Given the description of an element on the screen output the (x, y) to click on. 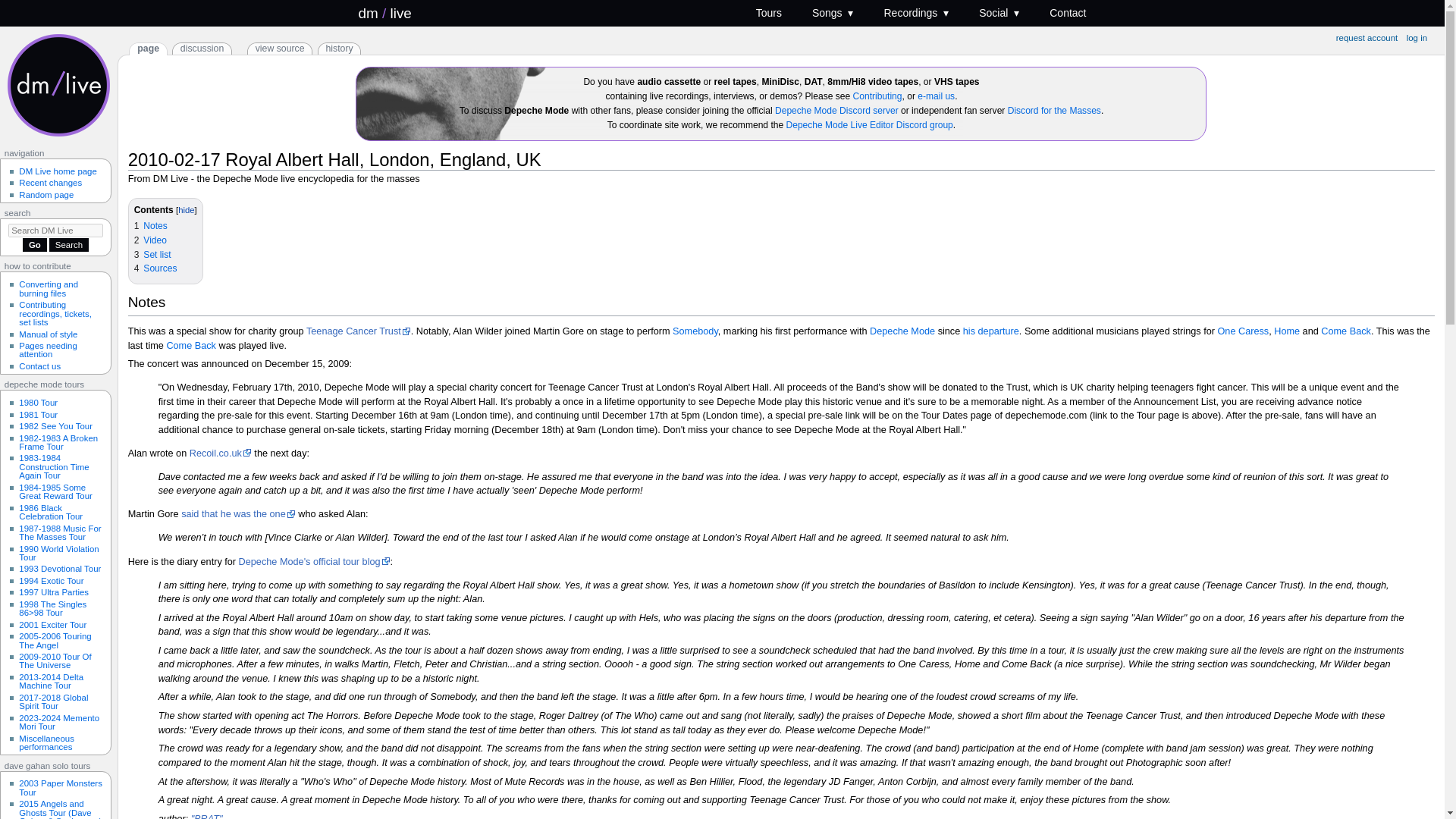
Contributing (877, 95)
2 Video (150, 240)
Come Back (190, 345)
Depeche Mode Discord server (836, 110)
Contributing (877, 95)
1 Notes (150, 225)
Somebody (694, 330)
Somebody (694, 330)
4 Sources (155, 267)
Discord for the Masses (1053, 110)
Social (998, 13)
Teenage Cancer Trust (357, 330)
3 Set list (152, 254)
Home (1287, 330)
